Given the description of an element on the screen output the (x, y) to click on. 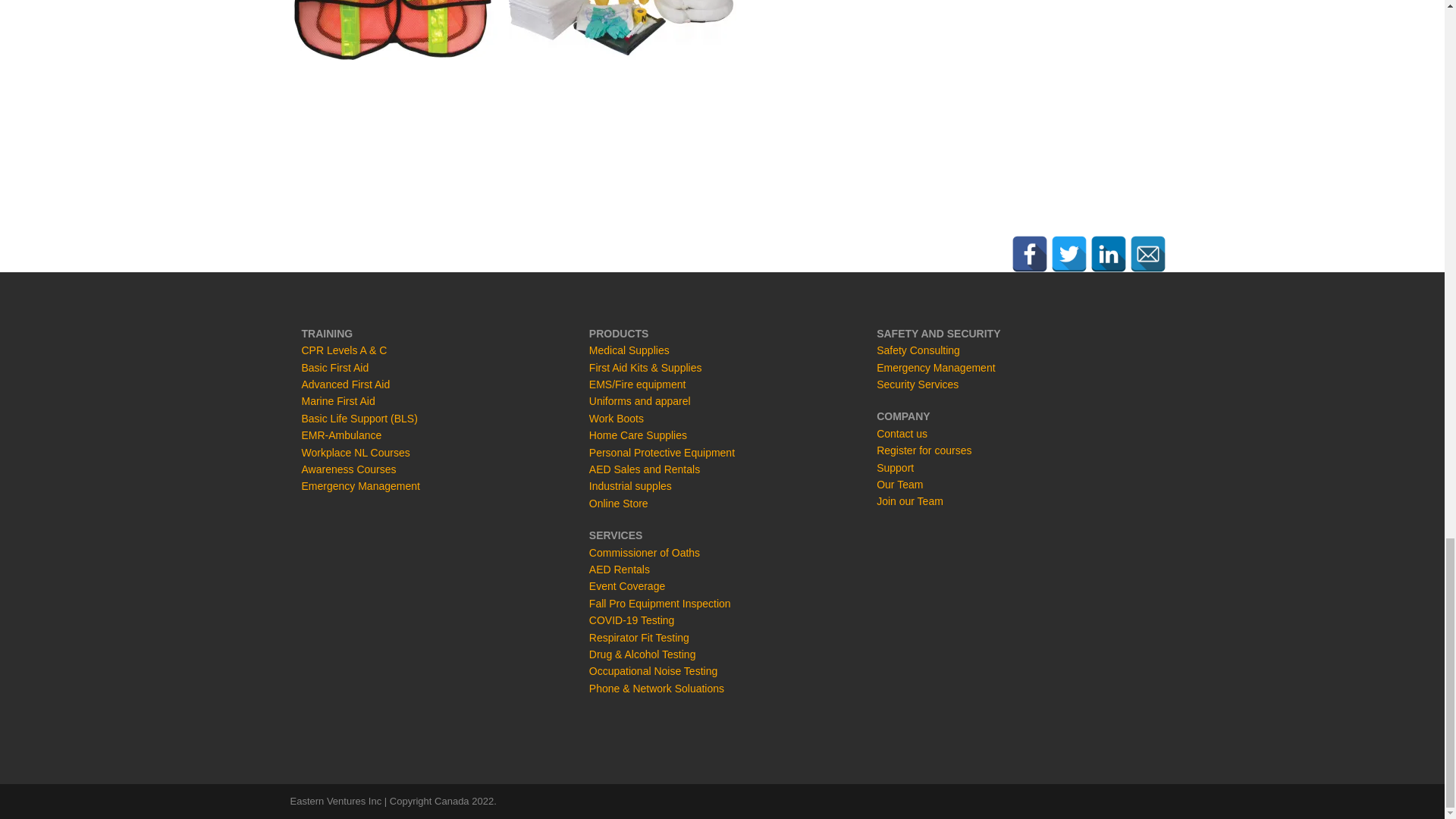
Twitter (1069, 253)
Email (1147, 253)
Facebook (1029, 253)
LinkedIn (1108, 253)
